Given the description of an element on the screen output the (x, y) to click on. 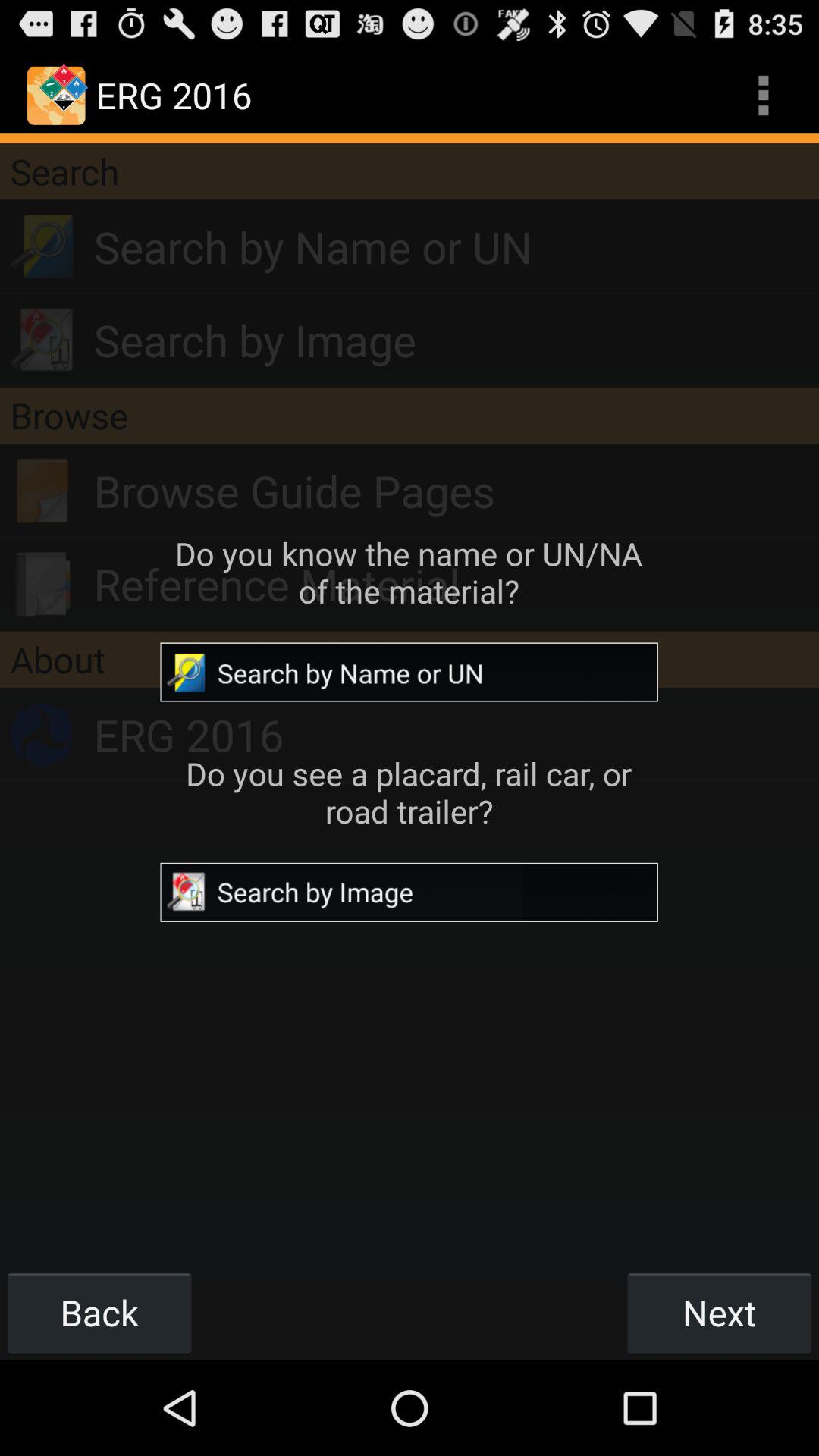
click the app to the right of erg 2016 (763, 95)
